Given the description of an element on the screen output the (x, y) to click on. 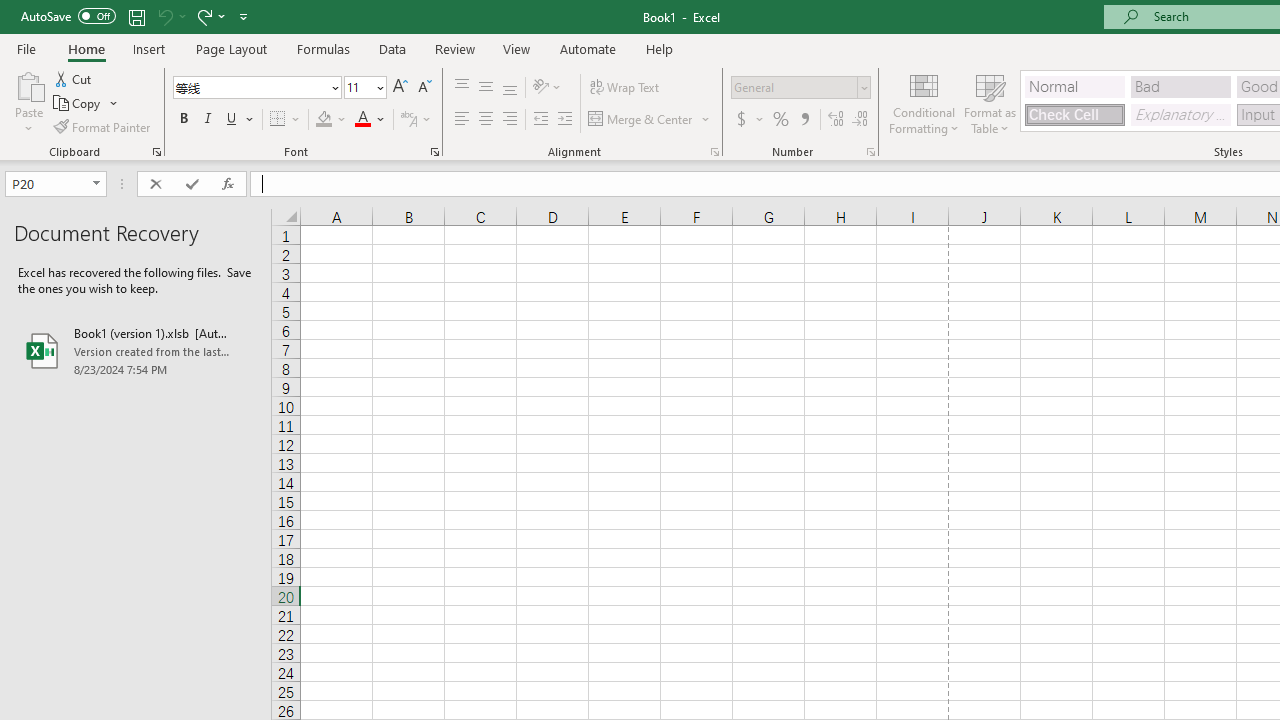
Office Clipboard... (156, 151)
Format Cell Font (434, 151)
Font Color (370, 119)
Show Phonetic Field (408, 119)
Increase Indent (565, 119)
Borders (285, 119)
Format as Table (990, 102)
Copy (85, 103)
